Given the description of an element on the screen output the (x, y) to click on. 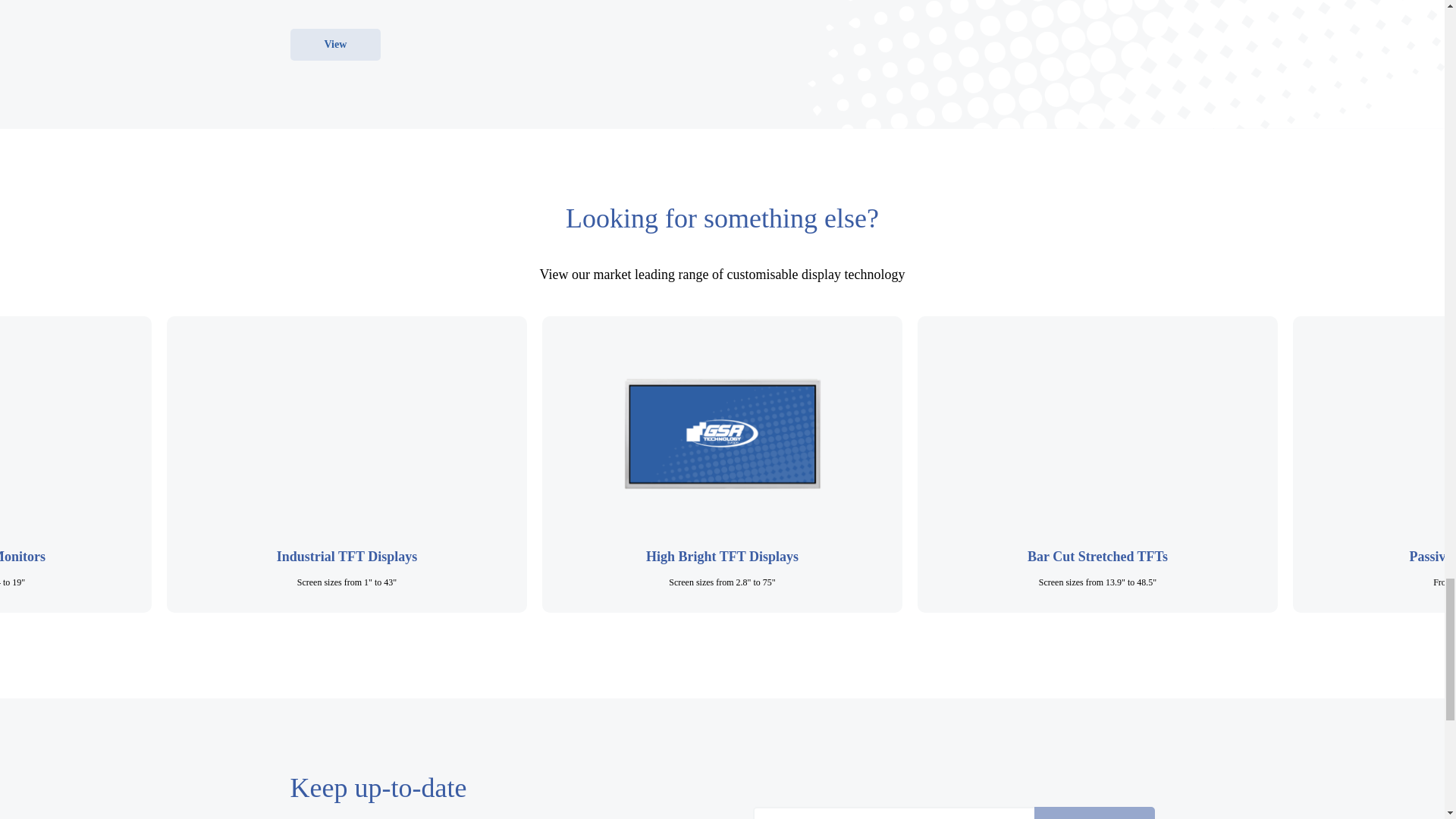
Submit (1093, 812)
